Given the description of an element on the screen output the (x, y) to click on. 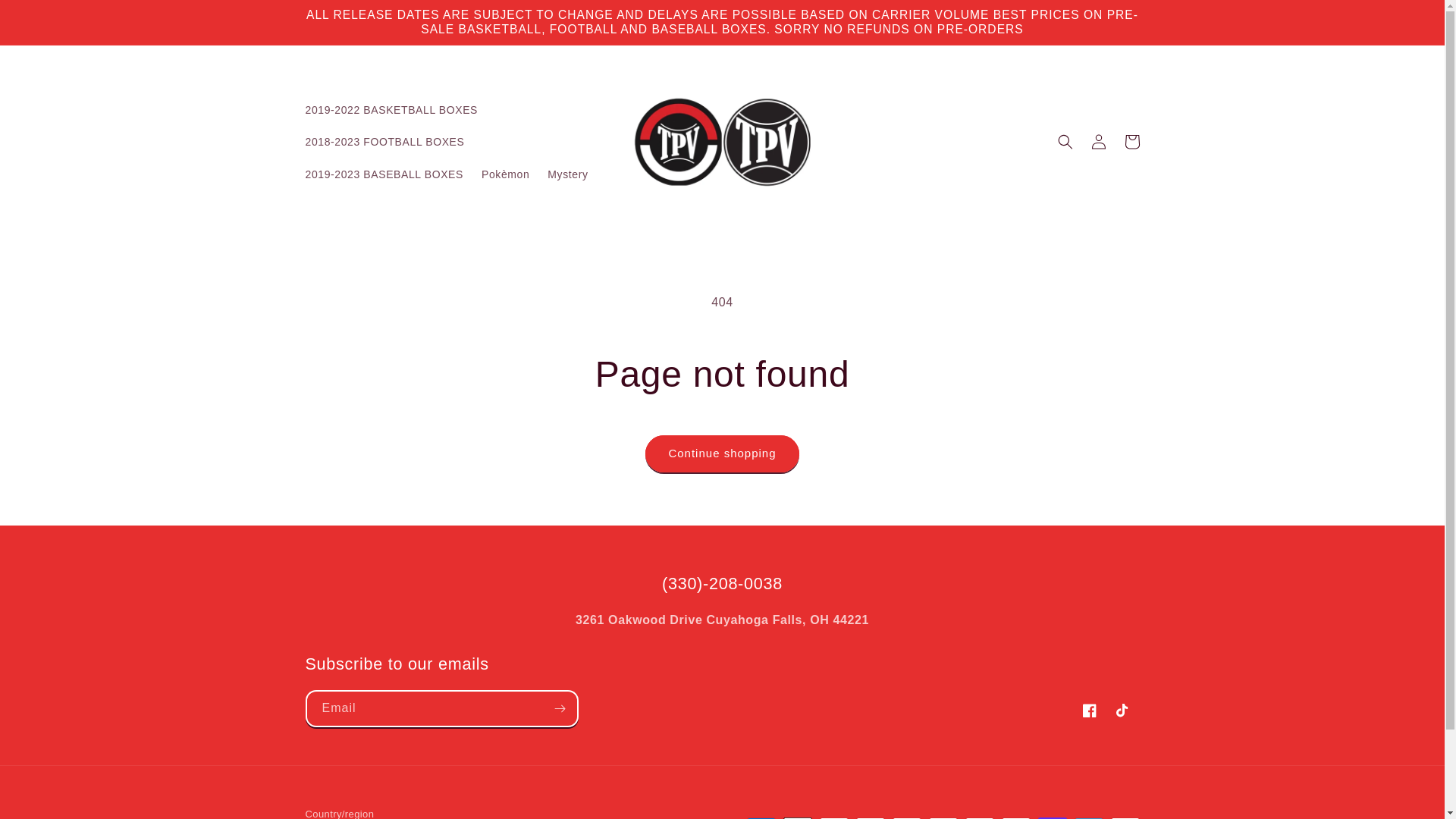
2019-2023 BASEBALL BOXES (383, 174)
Log in (1098, 141)
Cart (1131, 141)
Mystery (567, 174)
Skip to content (46, 18)
TikTok (1121, 710)
2018-2023 FOOTBALL BOXES (384, 142)
2019-2022 BASKETBALL BOXES (390, 110)
Continue shopping (721, 453)
Facebook (1088, 710)
